Given the description of an element on the screen output the (x, y) to click on. 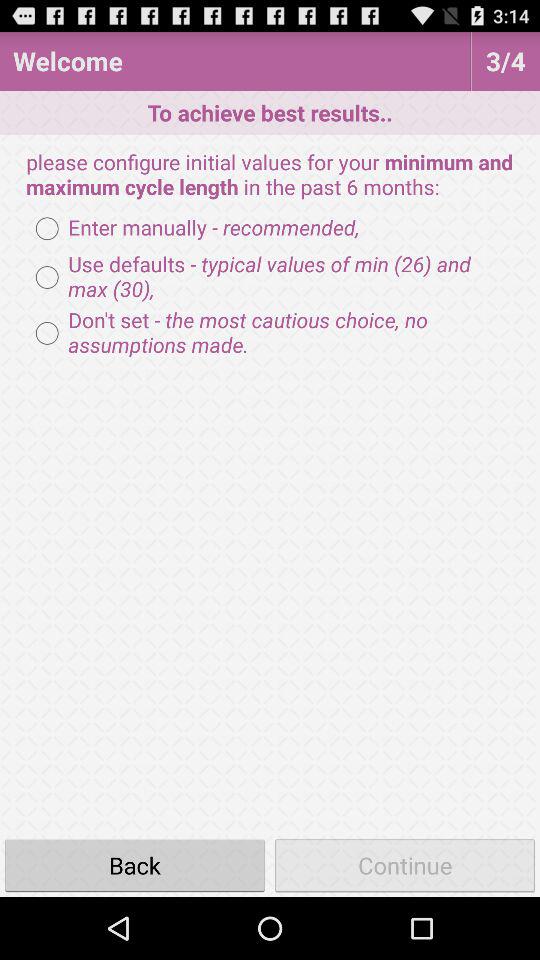
swipe to use defaults typical icon (269, 277)
